Given the description of an element on the screen output the (x, y) to click on. 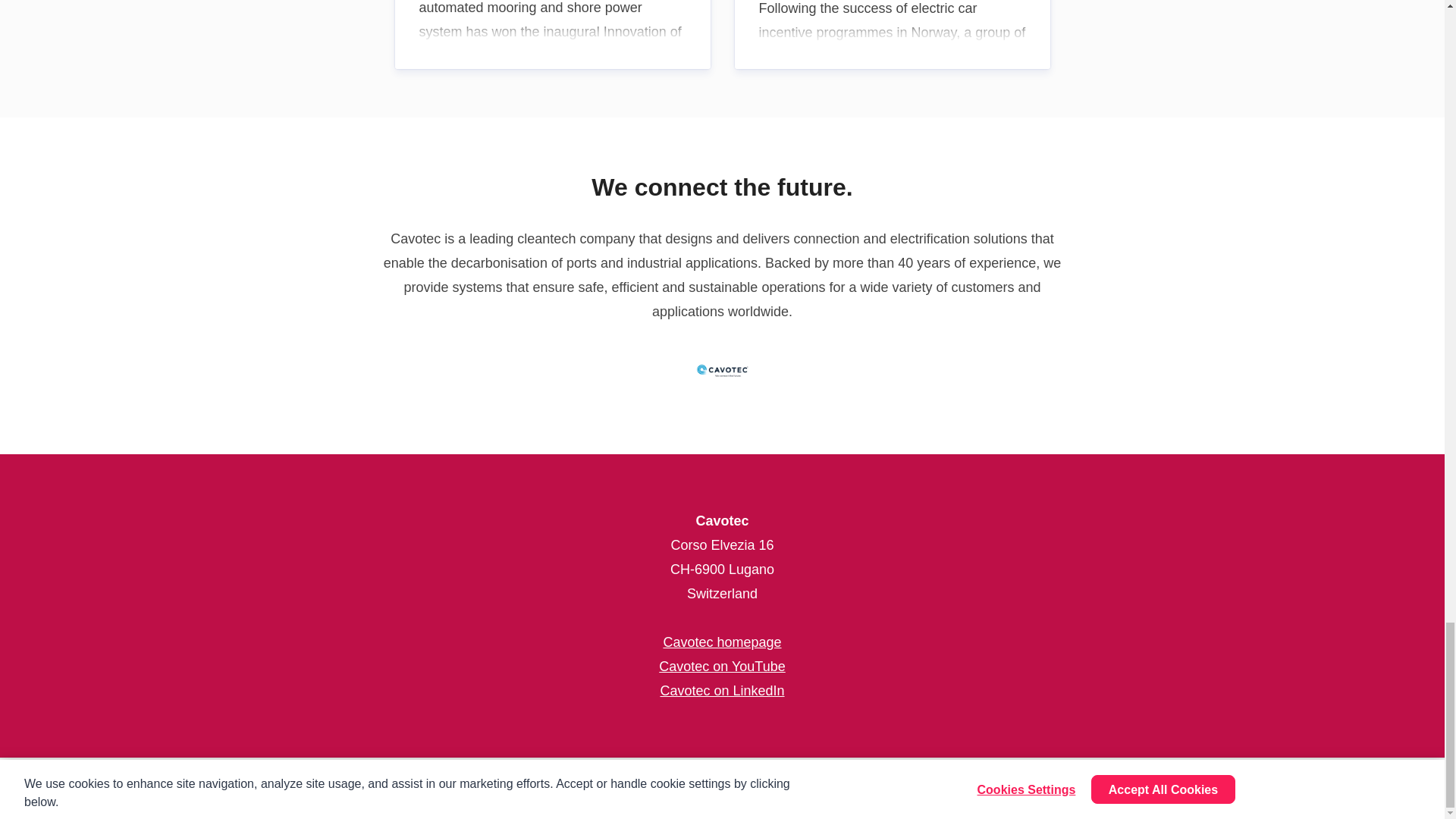
For journalists (1192, 788)
Joint mooring, shore power system wins innovation award (552, 34)
Cavotec on LinkedIn (721, 690)
Log in (1407, 788)
Find more stories (1312, 788)
Try Mynewsdesk (1074, 788)
Cavotec co-launches Norwegian shore power initiative (891, 34)
Cavotec on YouTube (721, 666)
Go to mynewsdesk.com (77, 788)
Cavotec homepage (721, 642)
